Given the description of an element on the screen output the (x, y) to click on. 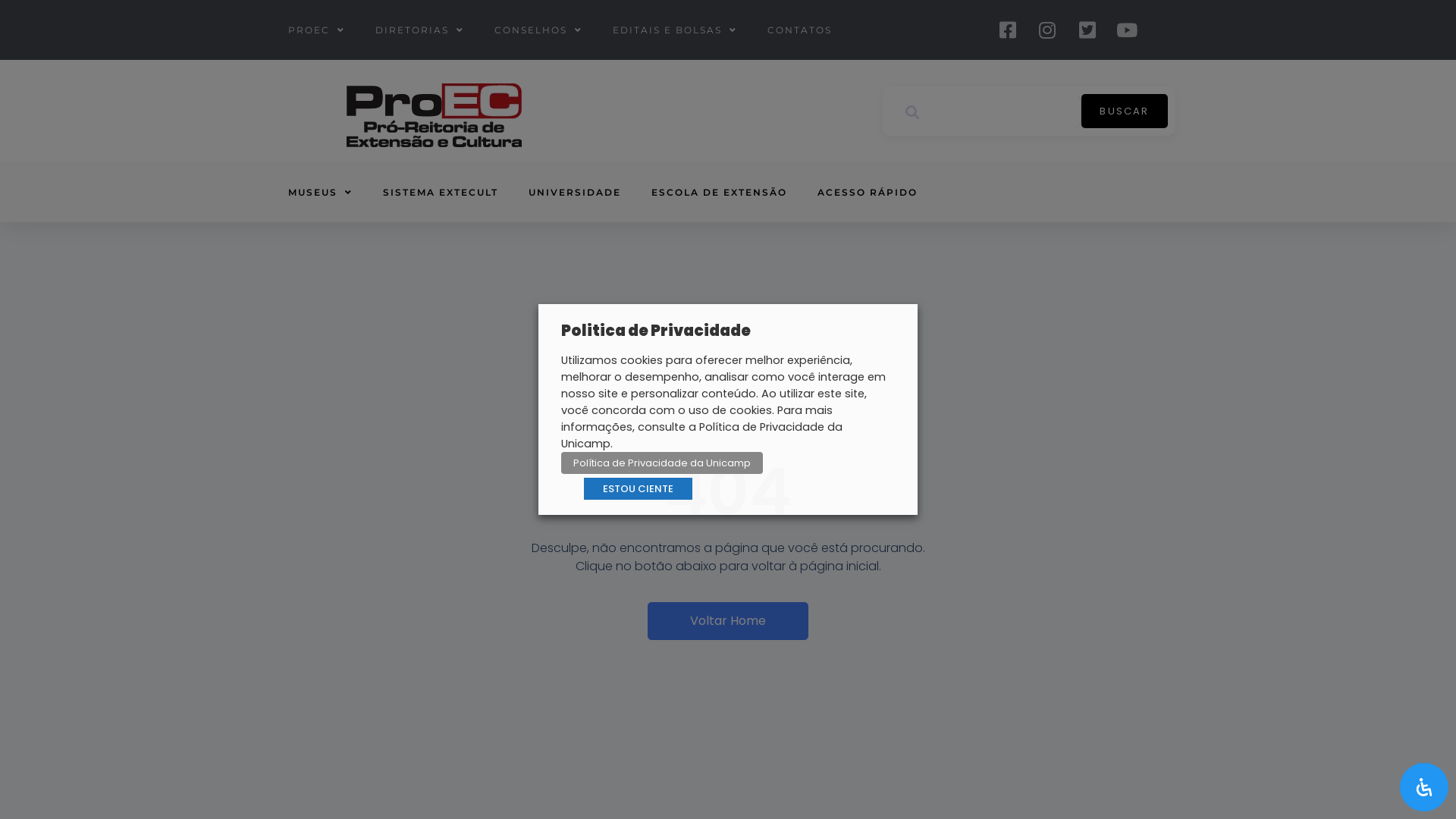
MUSEUS Element type: text (320, 192)
CONSELHOS Element type: text (538, 29)
Small2 Element type: hover (433, 115)
Acessibilidade Element type: hover (1423, 786)
DIRETORIAS Element type: text (419, 29)
Voltar Home Element type: text (727, 621)
UNIVERSIDADE Element type: text (574, 192)
EDITAIS E BOLSAS Element type: text (674, 29)
BUSCAR Element type: text (1124, 111)
SISTEMA EXTECULT Element type: text (440, 192)
ESTOU CIENTE Element type: text (637, 488)
PROEC Element type: text (316, 29)
CONTATOS Element type: text (799, 29)
